Given the description of an element on the screen output the (x, y) to click on. 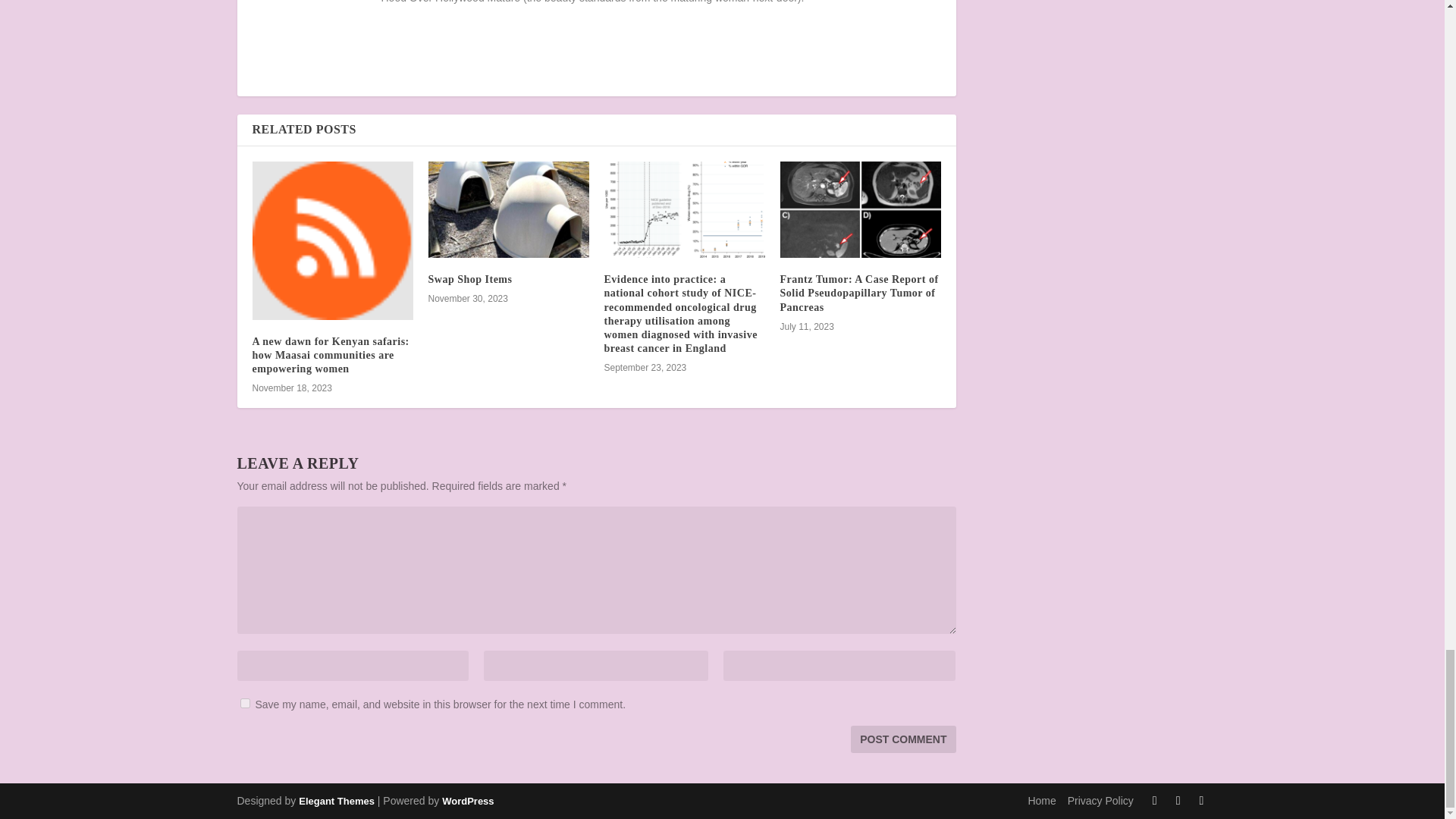
Post Comment (902, 738)
yes (244, 703)
